Given the description of an element on the screen output the (x, y) to click on. 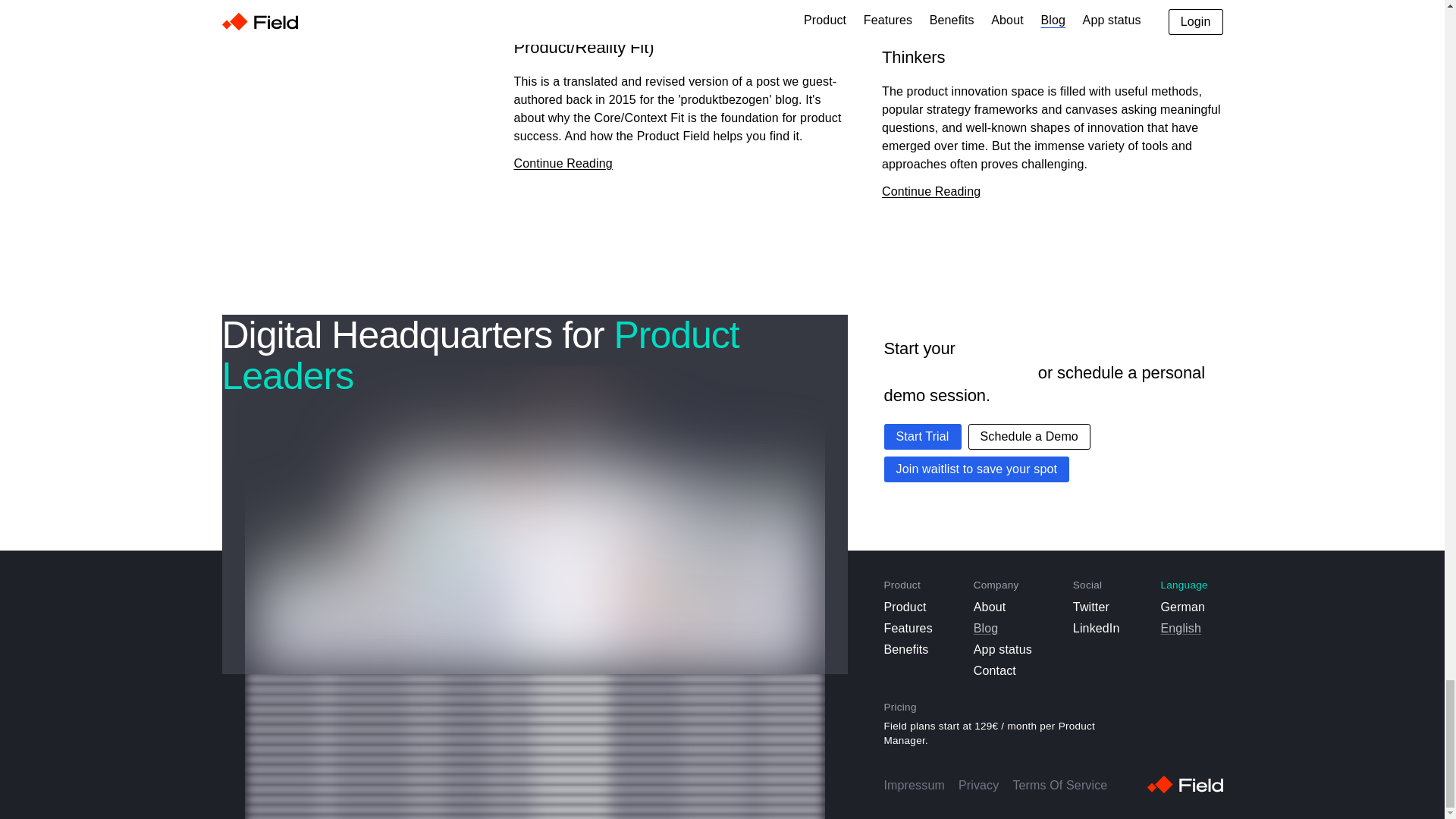
Schedule a Demo (1029, 436)
Start Trial (921, 436)
